Given the description of an element on the screen output the (x, y) to click on. 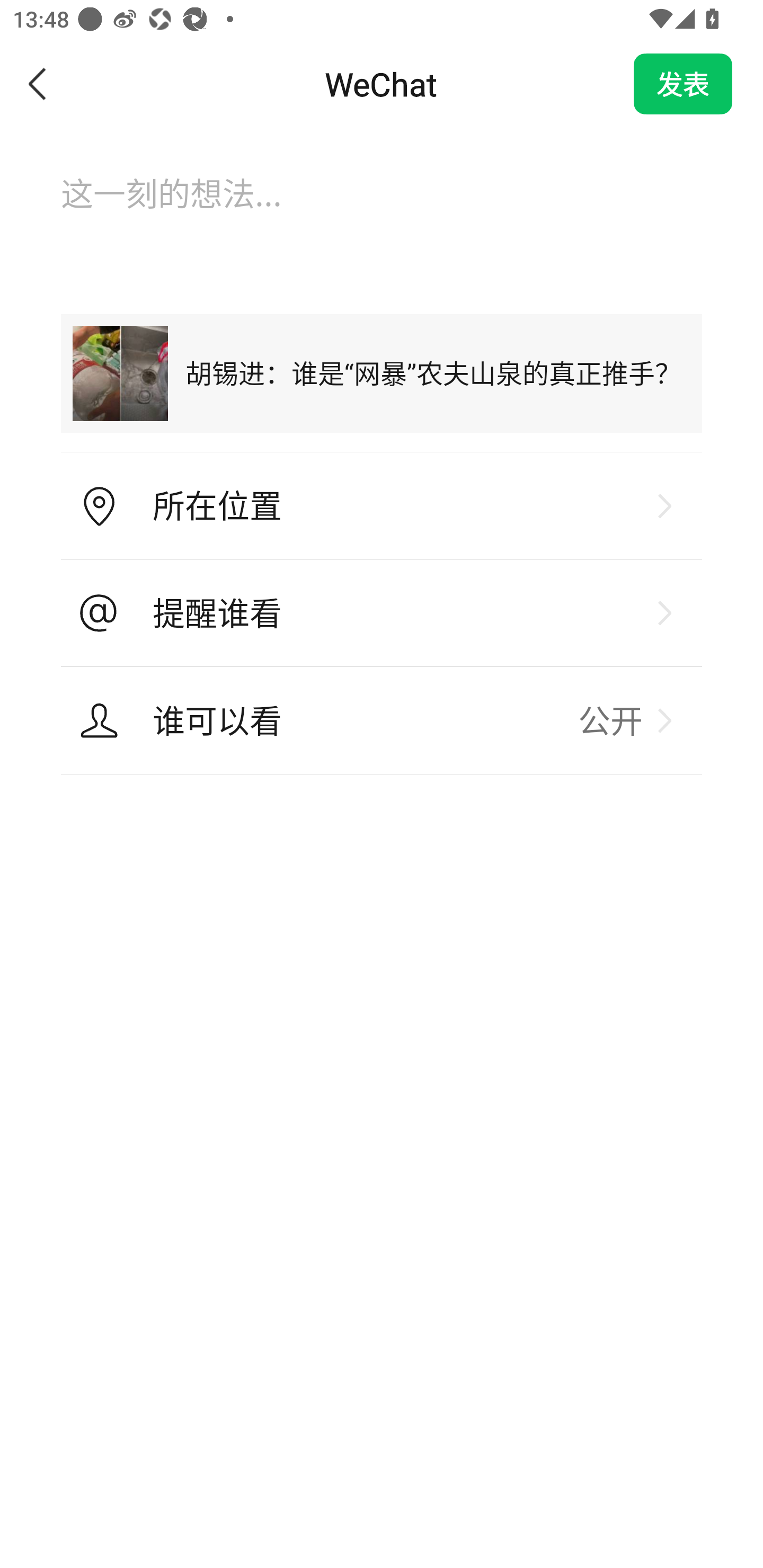
返回 (38, 83)
发表 (683, 83)
这一刻的想法... (381, 211)
胡锡进：谁是“网暴”农夫山泉的真正推手？ (381, 372)
所在位置 (381, 506)
提醒谁看  提醒谁看 (381, 612)
谁可以看 公开 (381, 720)
